Given the description of an element on the screen output the (x, y) to click on. 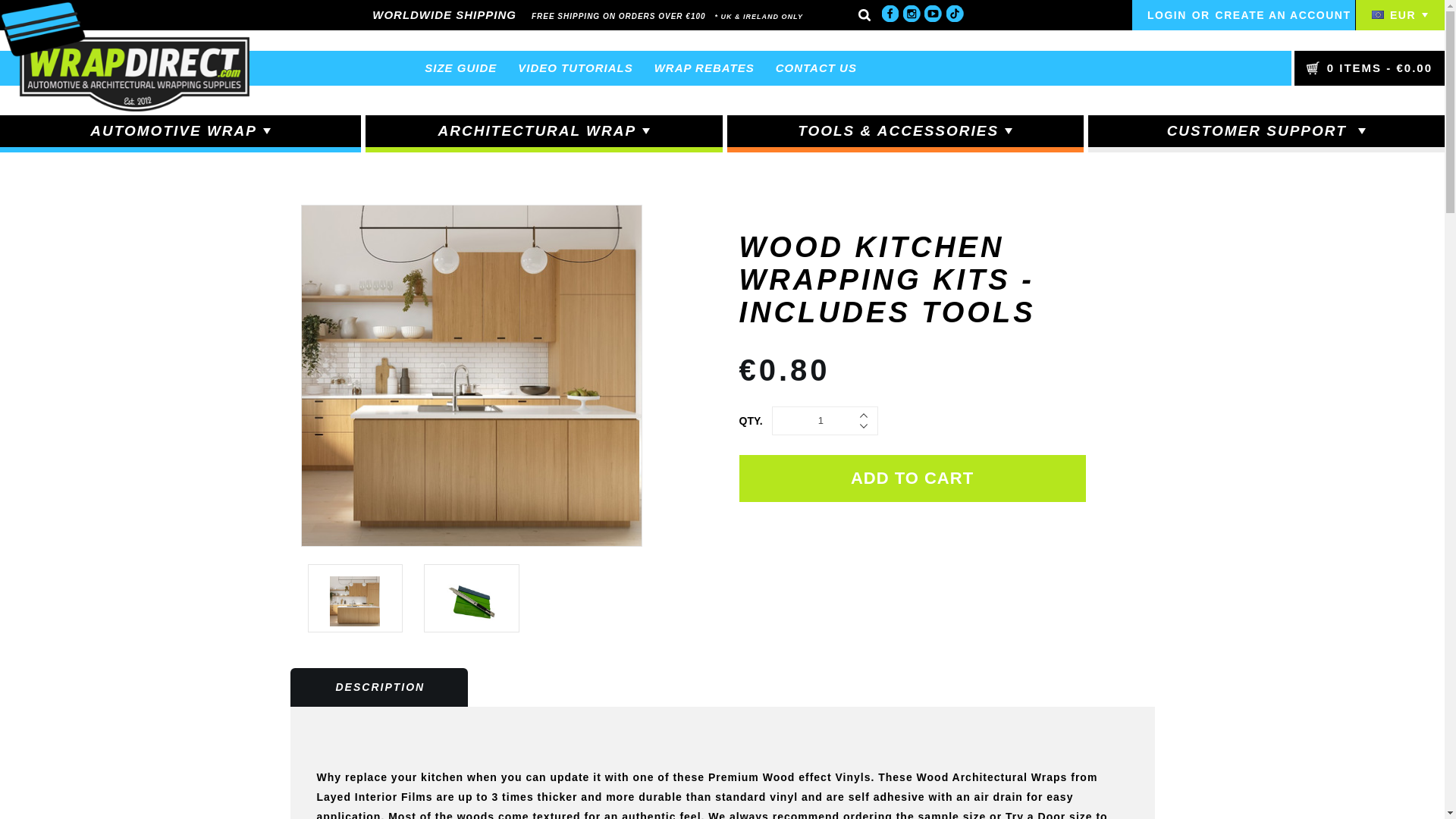
Add to Cart (911, 478)
Wood Kitchen Wrapping Kits - Includes Tools (471, 601)
Wood Kitchen Wrapping Kits - Includes Tools (355, 601)
Wood Kitchen Wrapping Kits - Includes Tools (471, 375)
LOGIN (1167, 15)
CREATE AN ACCOUNT (1283, 15)
EUR (1398, 15)
Carbon Fibre Design Ireland (124, 56)
